Given the description of an element on the screen output the (x, y) to click on. 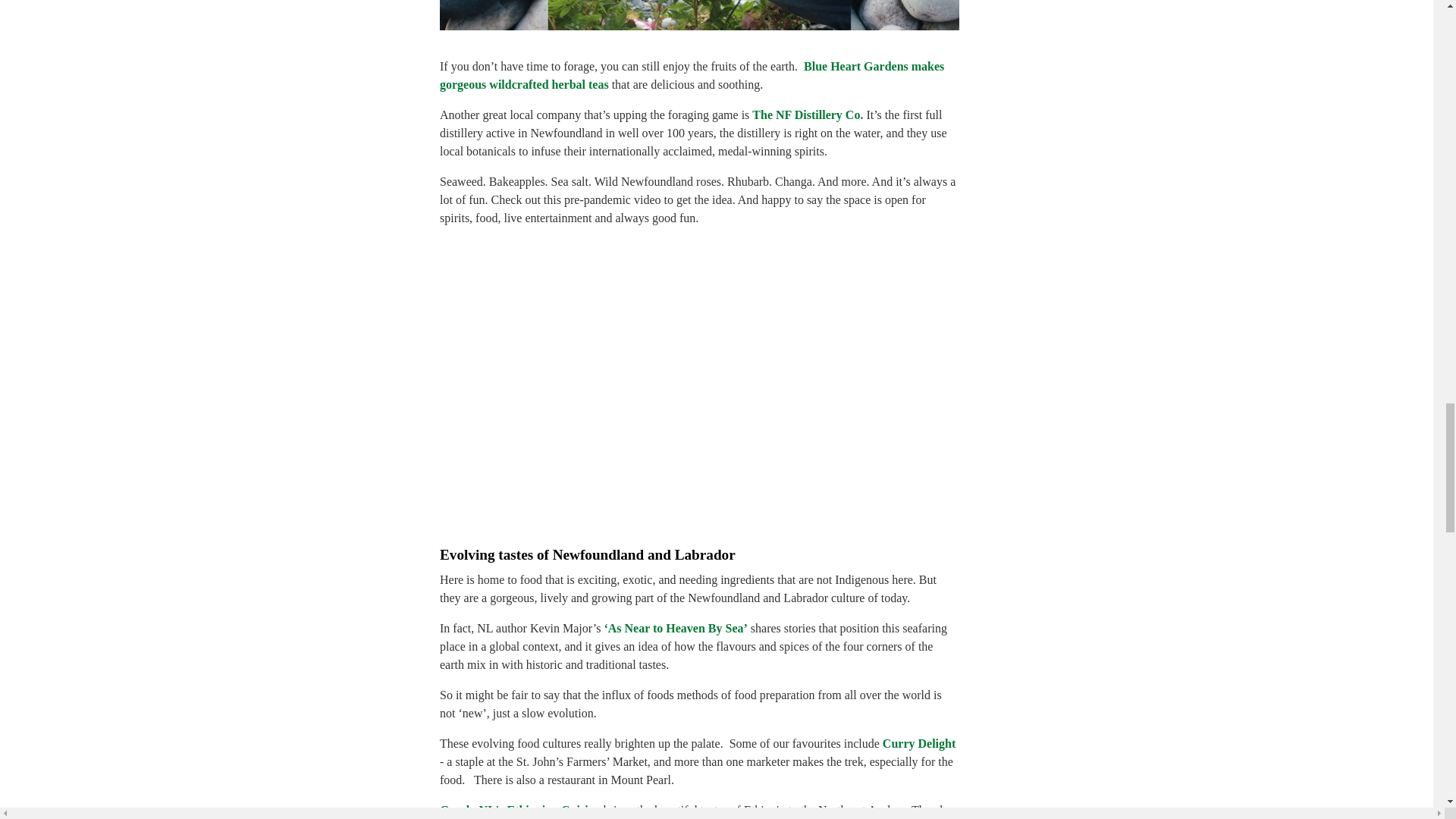
Curry Delight (918, 743)
Blue Heart Gardens makes gorgeous wildcrafted herbal teas (691, 74)
The NF Distillery Co. (807, 114)
GurshaNL's Ethiopian Cuisine (519, 809)
